Given the description of an element on the screen output the (x, y) to click on. 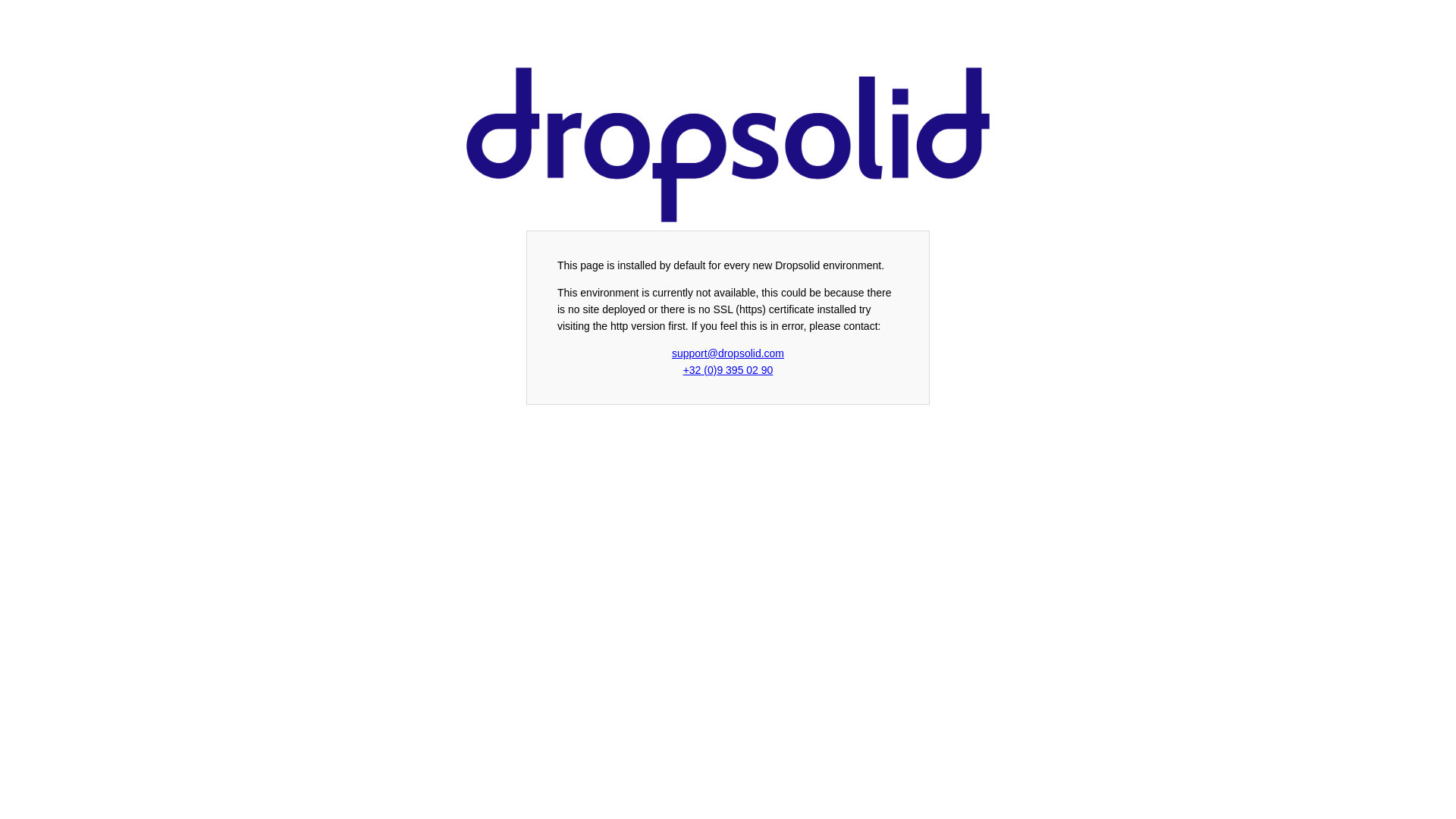
support@dropsolid.com Element type: text (727, 353)
+32 (0)9 395 02 90 Element type: text (728, 370)
